Given the description of an element on the screen output the (x, y) to click on. 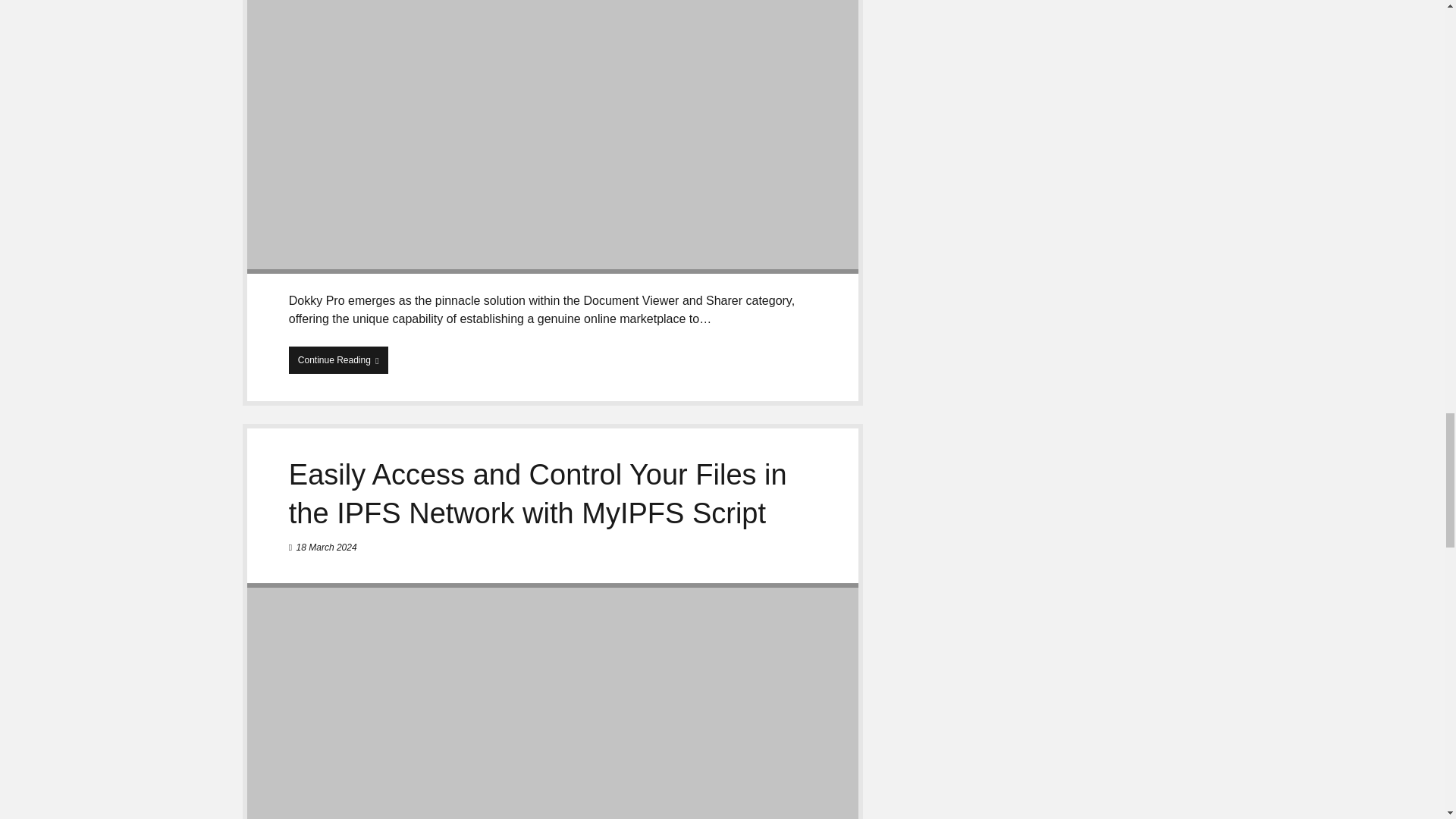
18 March 2024 (326, 547)
